Given the description of an element on the screen output the (x, y) to click on. 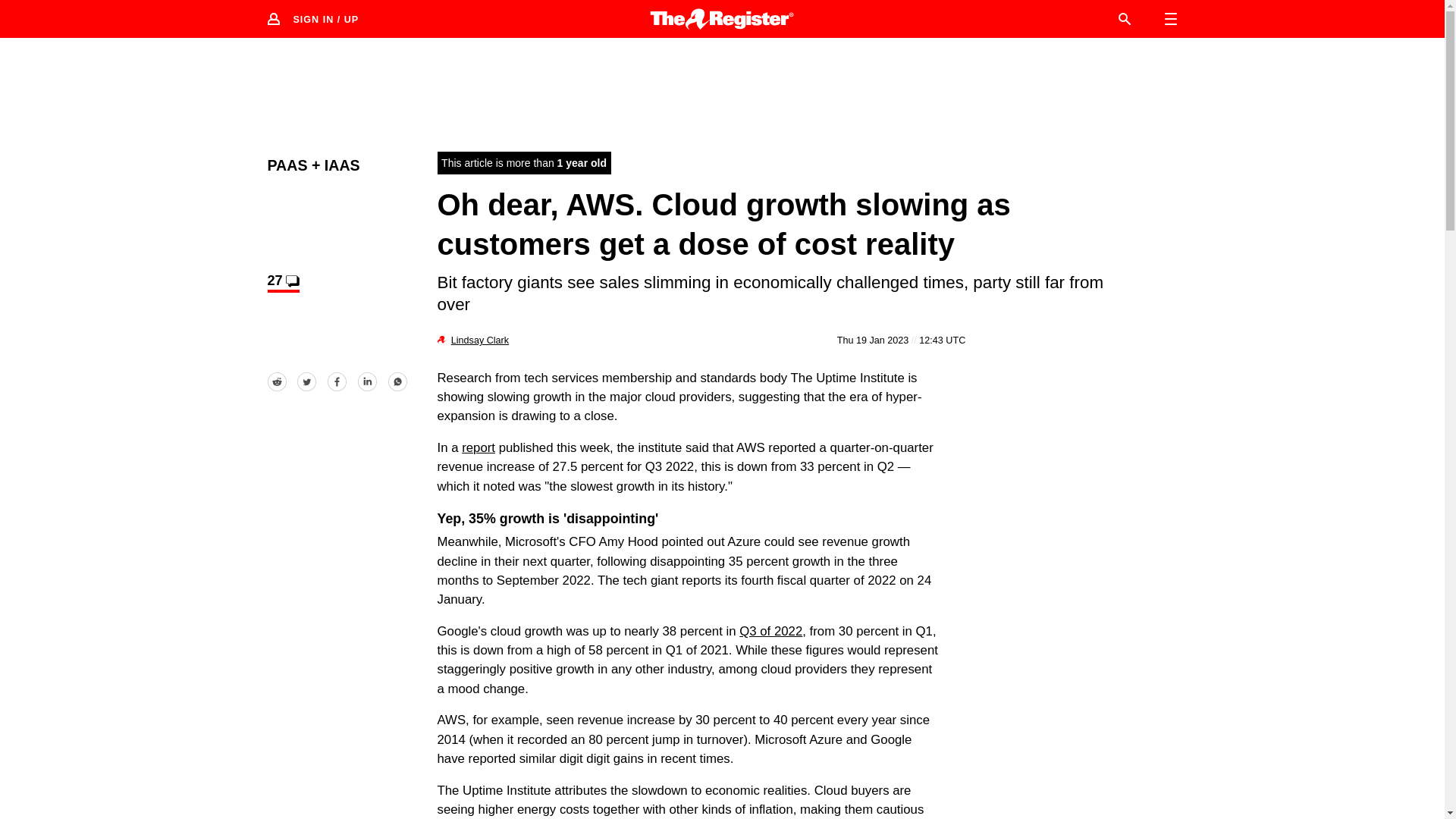
View comments on this article (282, 282)
Read more by this author (479, 340)
